Given the description of an element on the screen output the (x, y) to click on. 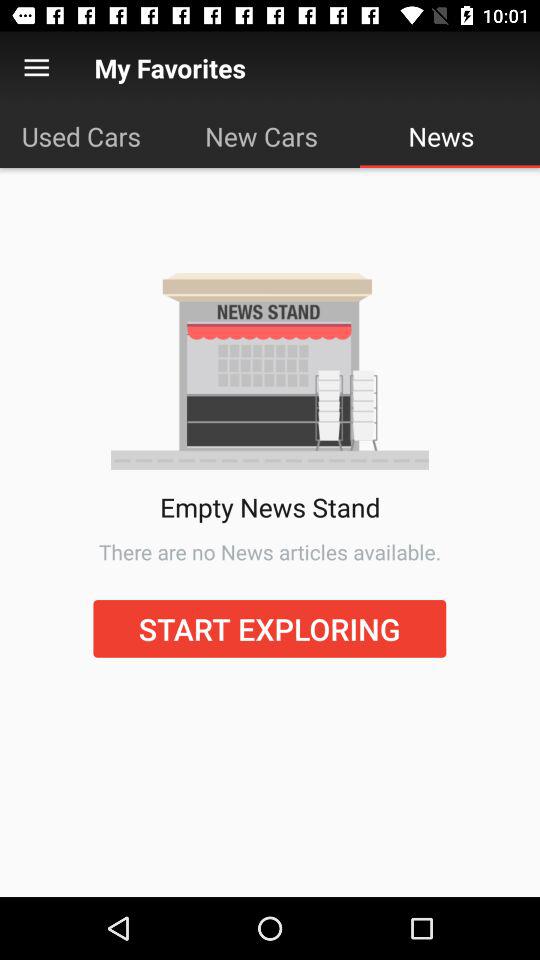
open menu (36, 68)
